Given the description of an element on the screen output the (x, y) to click on. 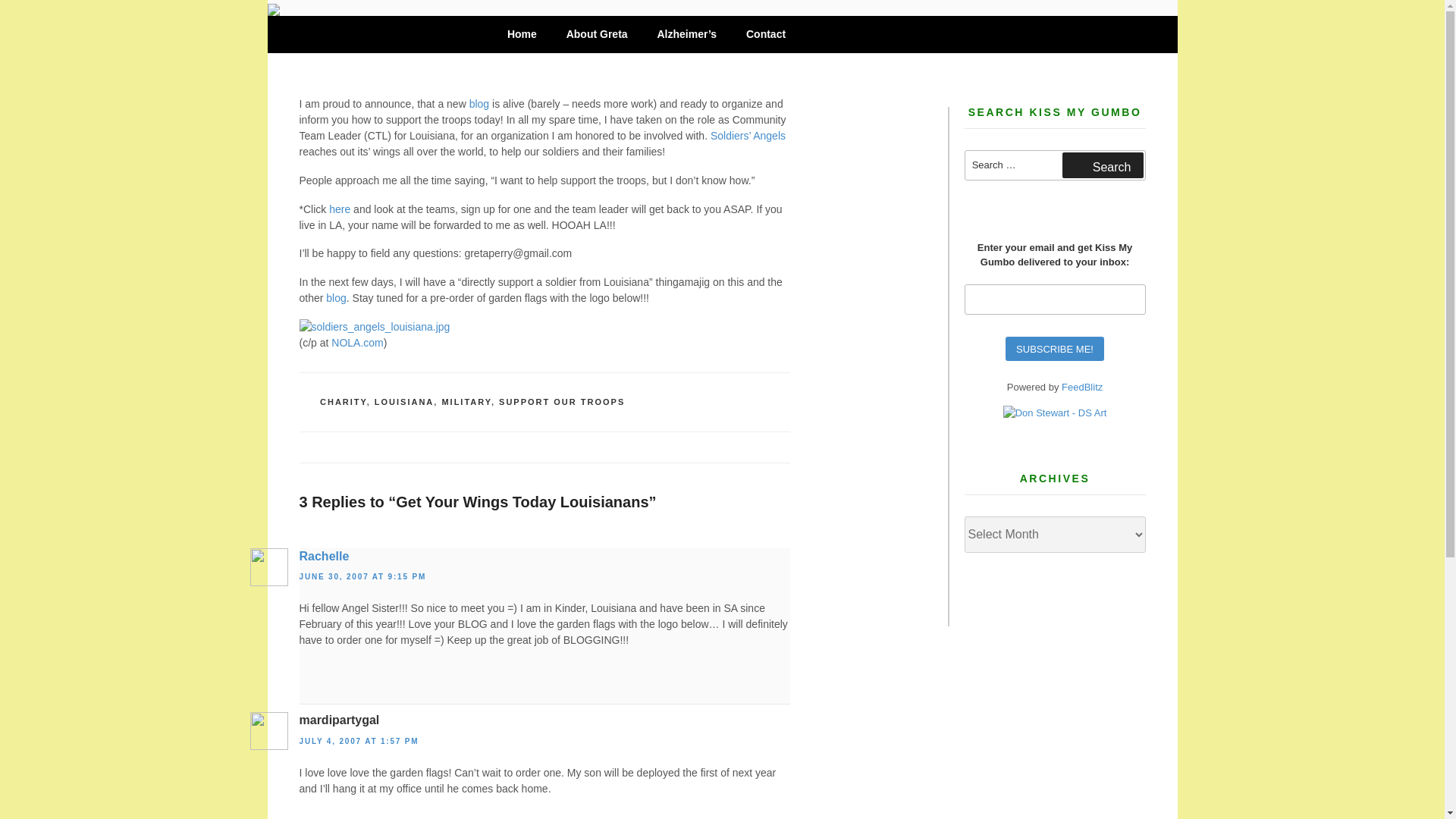
Rachelle (323, 555)
FeedBlitz (1081, 387)
SUPPORT OUR TROOPS (561, 401)
JULY 4, 2007 AT 1:57 PM (358, 741)
CHARITY (343, 401)
NOLA.com (356, 342)
Subscribe me! (1054, 348)
Subscribe me! (1054, 348)
Search (1102, 165)
here (338, 209)
